Given the description of an element on the screen output the (x, y) to click on. 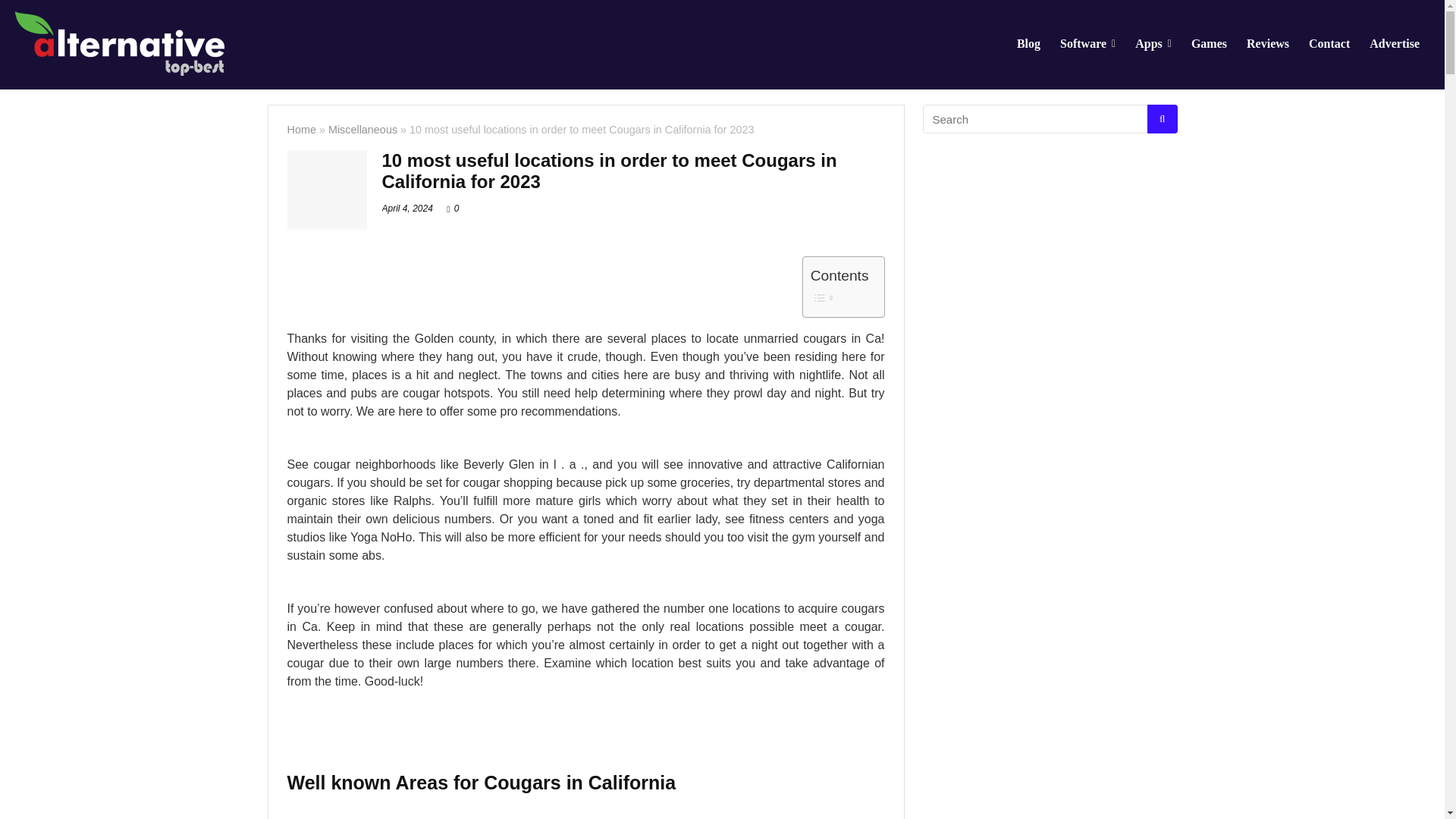
Apps (1152, 44)
Miscellaneous (363, 129)
Contact (1328, 44)
Reviews (1267, 44)
Advertise (1394, 44)
Blog (1028, 44)
Home (300, 129)
Games (1208, 44)
Software (1087, 44)
